Given the description of an element on the screen output the (x, y) to click on. 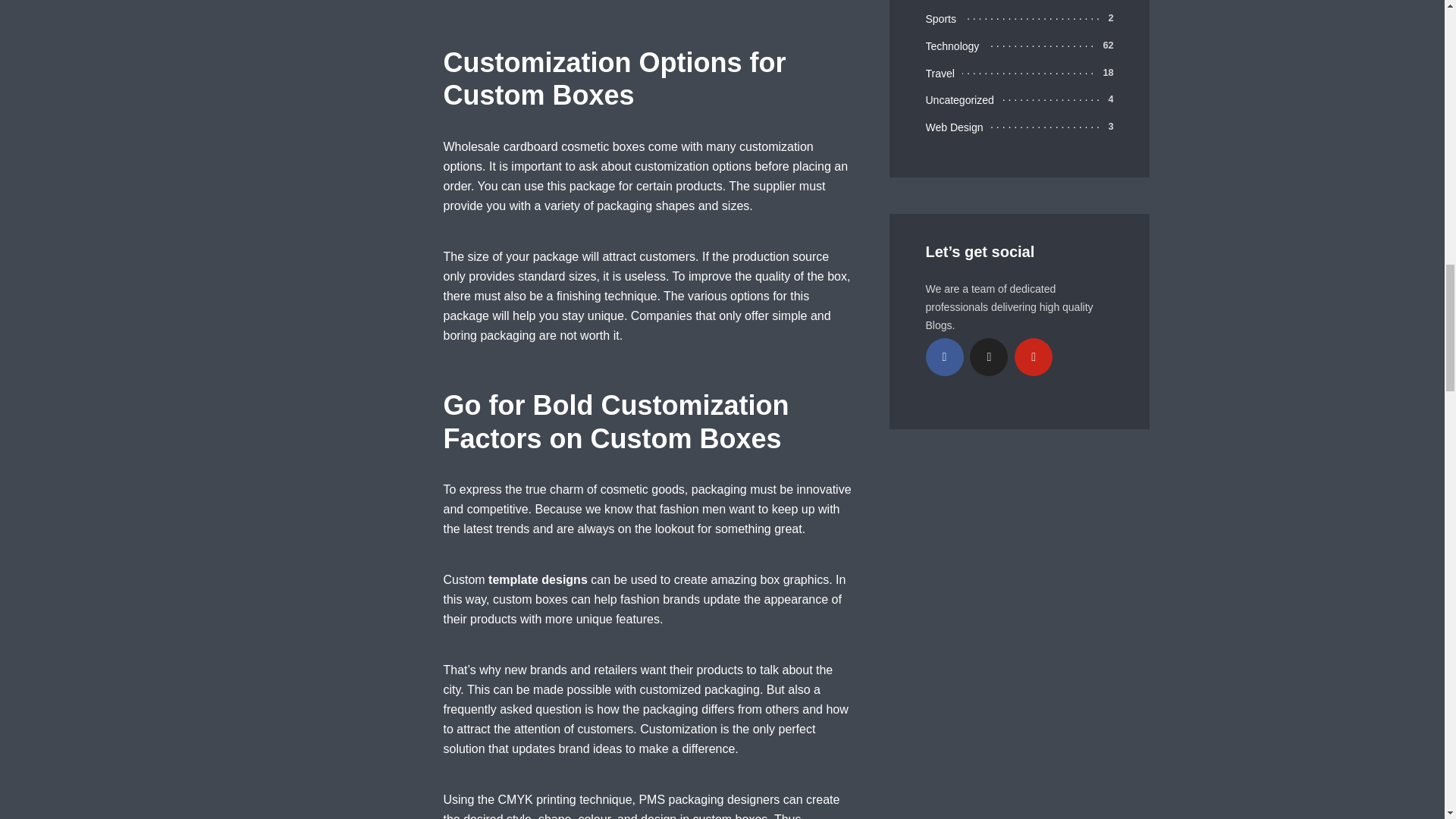
Facebook (943, 356)
Pinterest (1033, 356)
